Given the description of an element on the screen output the (x, y) to click on. 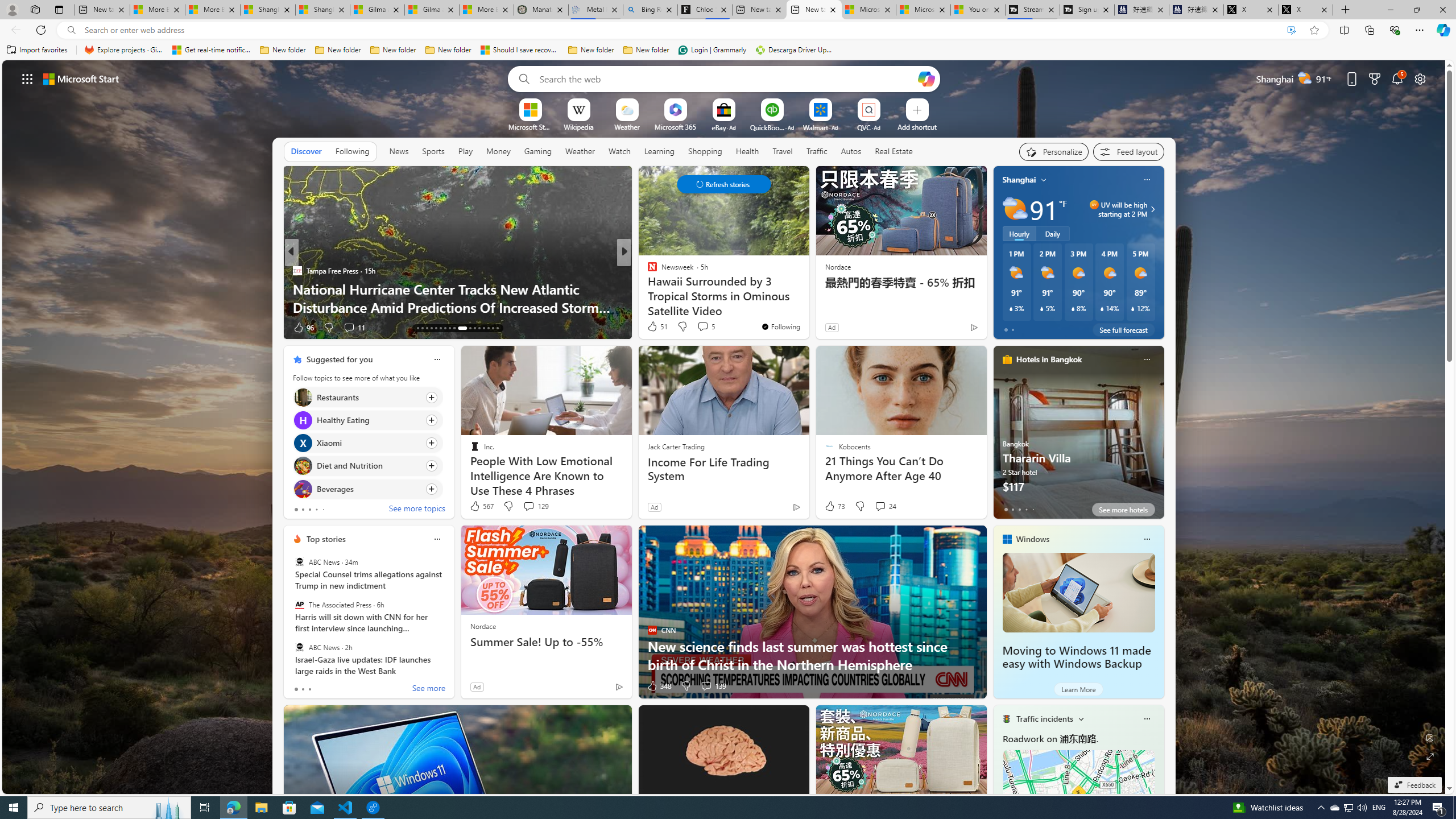
Partly sunny (1014, 208)
Manatee Mortality Statistics | FWC (541, 9)
Descarga Driver Updater (794, 49)
Daily (1052, 233)
View comments 1 Comment (6, 327)
tab-3 (1025, 509)
New folder (646, 49)
View comments 129 Comment (535, 505)
Edit Background (1430, 737)
AutomationID: tab-33 (497, 328)
Learn More (1078, 689)
Class: weather-current-precipitation-glyph (1133, 308)
Add a site (916, 126)
